Given the description of an element on the screen output the (x, y) to click on. 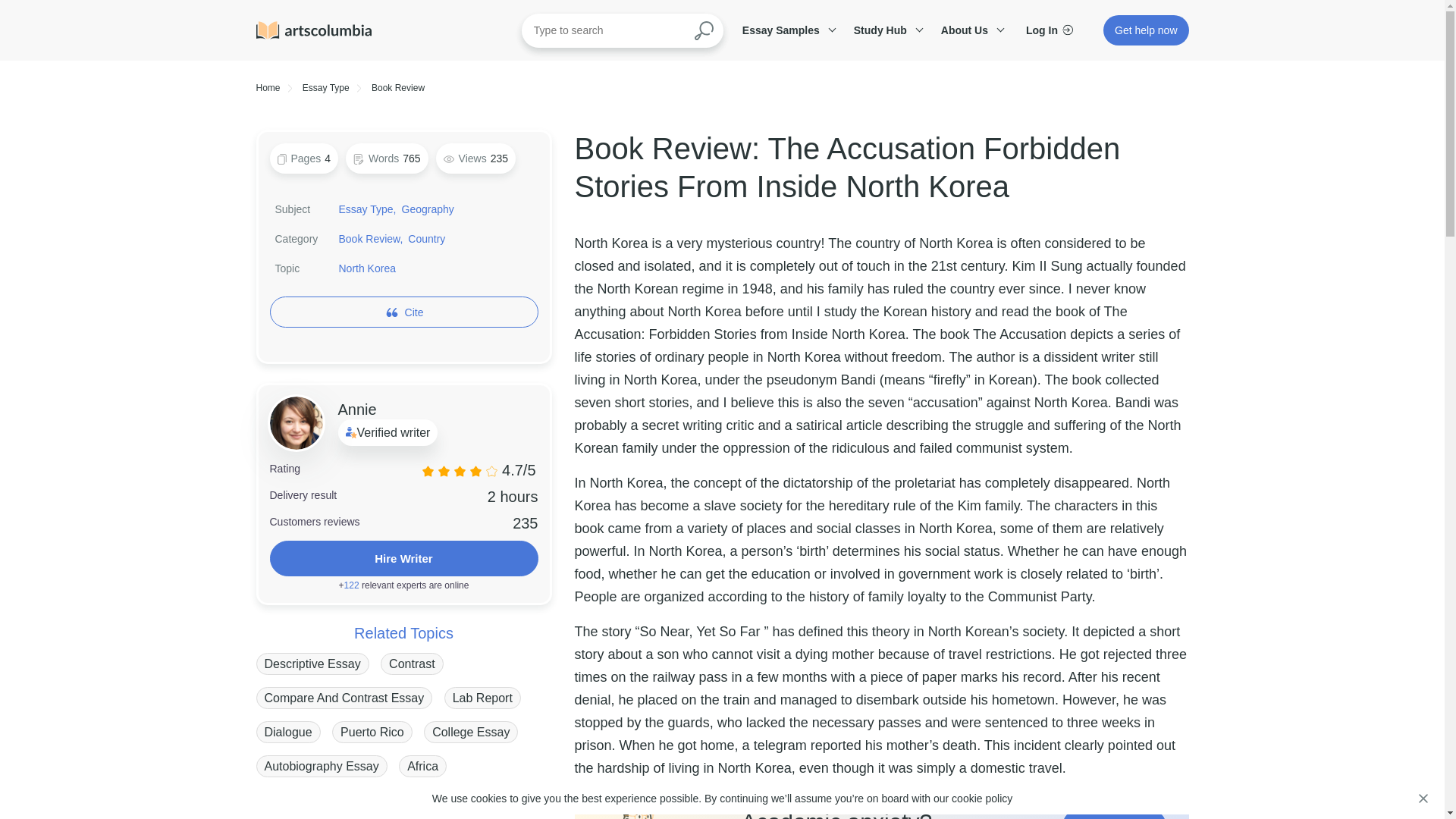
Home (268, 87)
Essay Samples (786, 30)
Study Hub (886, 30)
Book Review, (370, 238)
Geography (427, 209)
About Us (970, 30)
Essay Type, (367, 209)
Book Review (398, 87)
Log In (1049, 30)
Cite (413, 312)
Essay Type (325, 87)
